Given the description of an element on the screen output the (x, y) to click on. 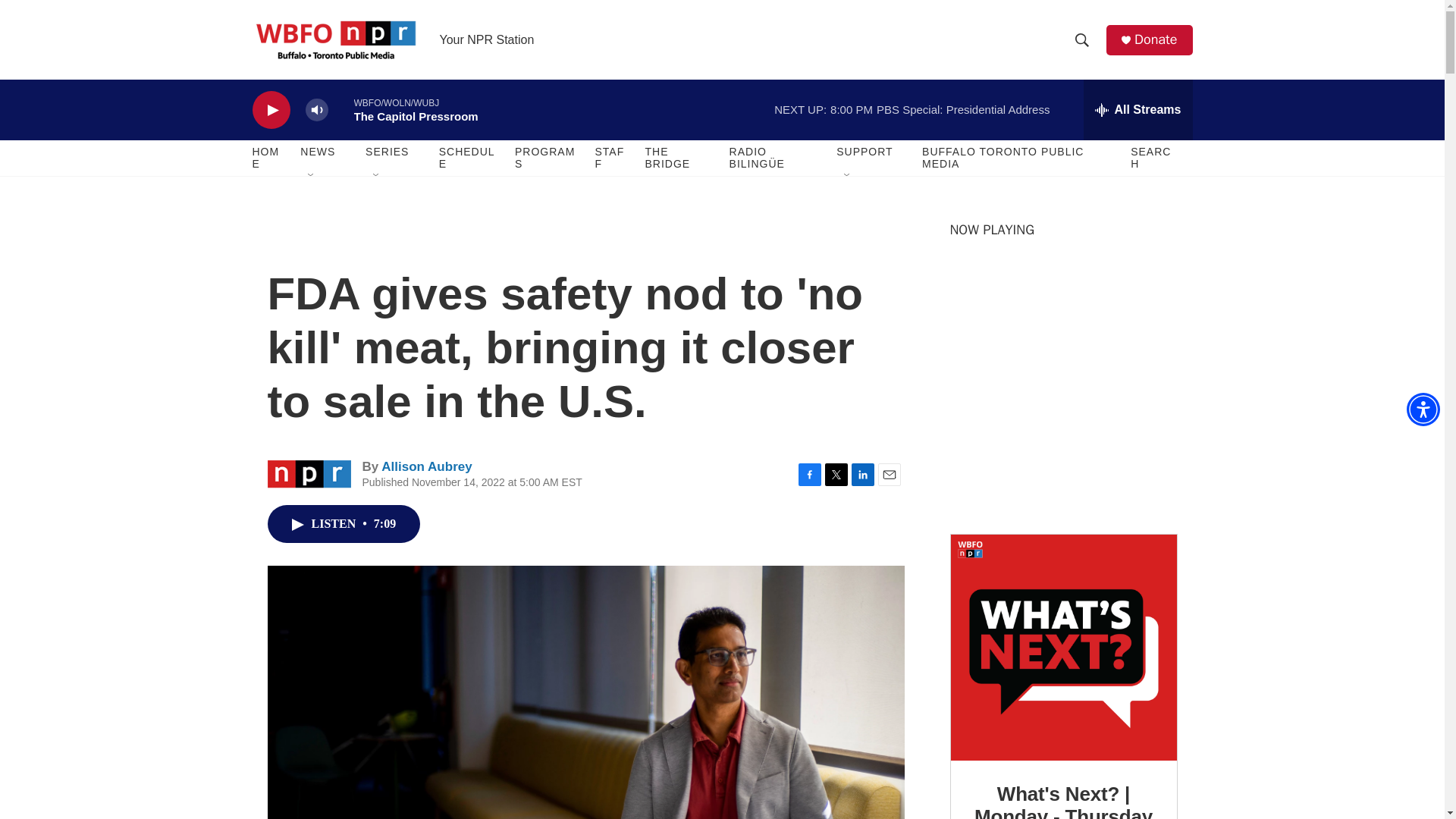
Accessibility Menu (1422, 409)
3rd party ad content (1062, 408)
